Given the description of an element on the screen output the (x, y) to click on. 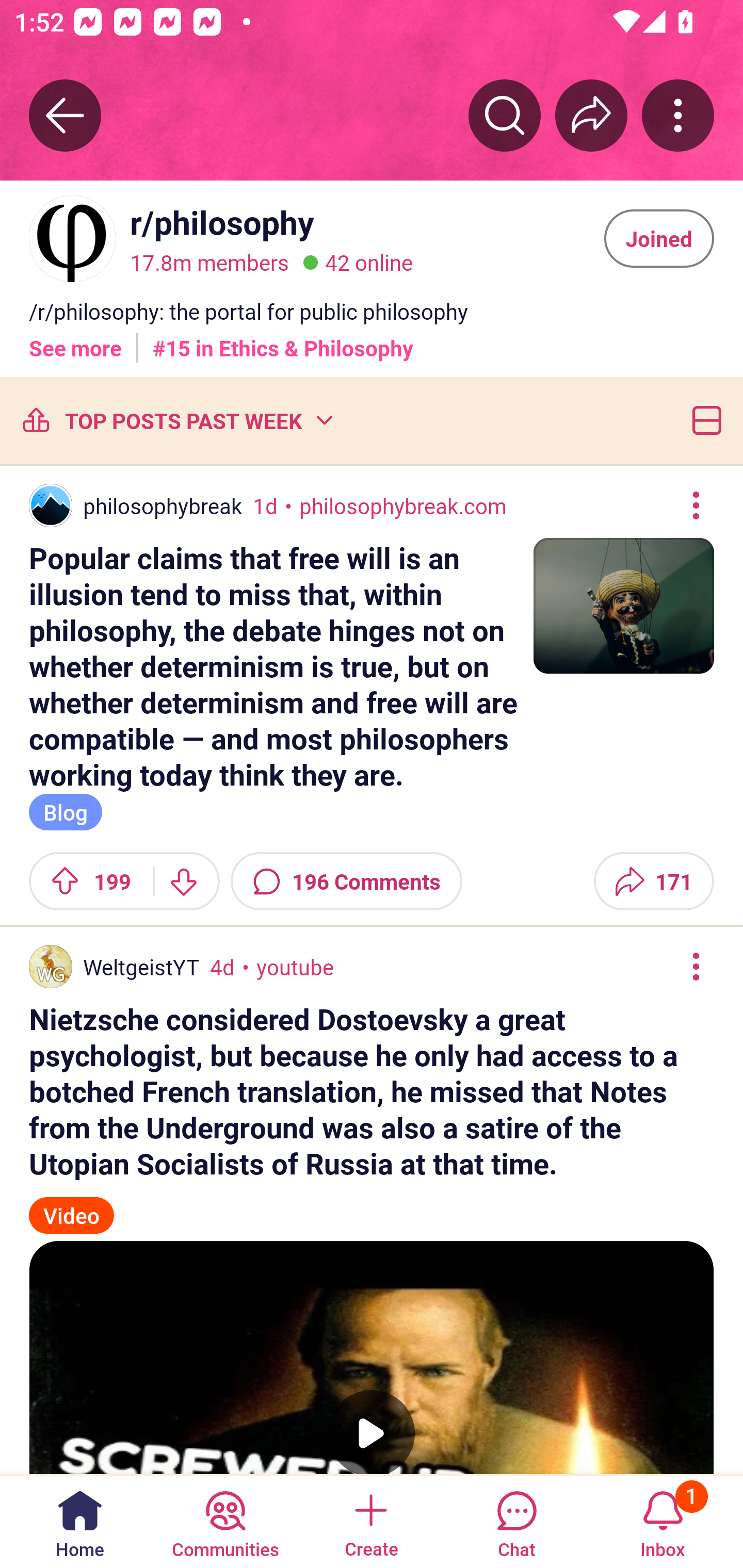
Back (64, 115)
Search r/﻿philosophy (504, 115)
Share r/﻿philosophy (591, 115)
More community actions (677, 115)
Top posts TOP POSTS PAST WEEK (176, 420)
Card (703, 420)
Blog (65, 812)
Video (71, 1206)
Home (80, 1520)
Communities (225, 1520)
Create a post Create (370, 1520)
Chat (516, 1520)
Inbox, has 1 notification 1 Inbox (662, 1520)
